Given the description of an element on the screen output the (x, y) to click on. 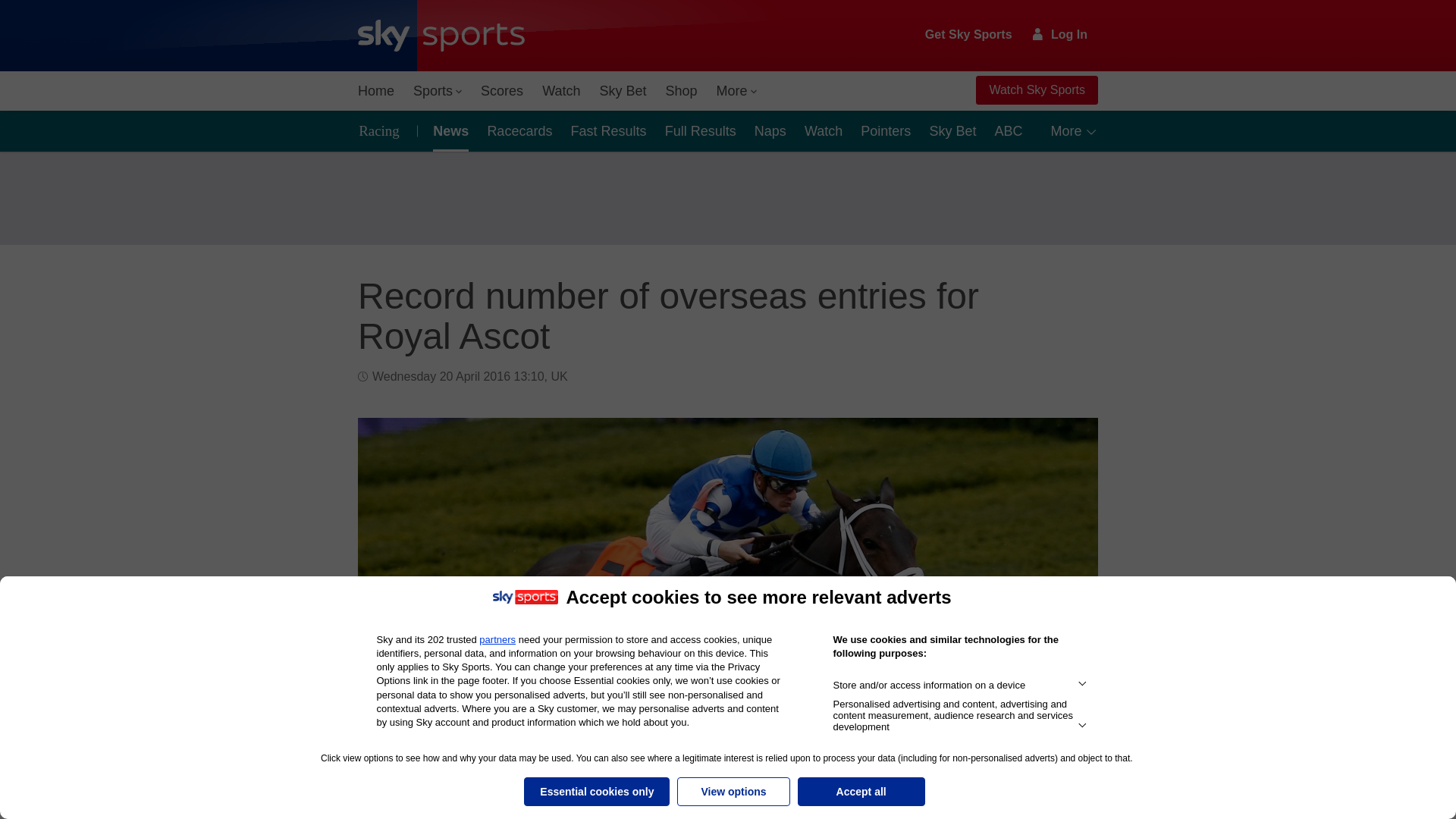
Racing (383, 130)
Watch (561, 91)
Sports (437, 91)
Log In (1060, 33)
Sky Bet (622, 91)
Home (375, 91)
Scores (502, 91)
Watch Sky Sports (1036, 90)
More (736, 91)
Get Sky Sports (968, 34)
